Given the description of an element on the screen output the (x, y) to click on. 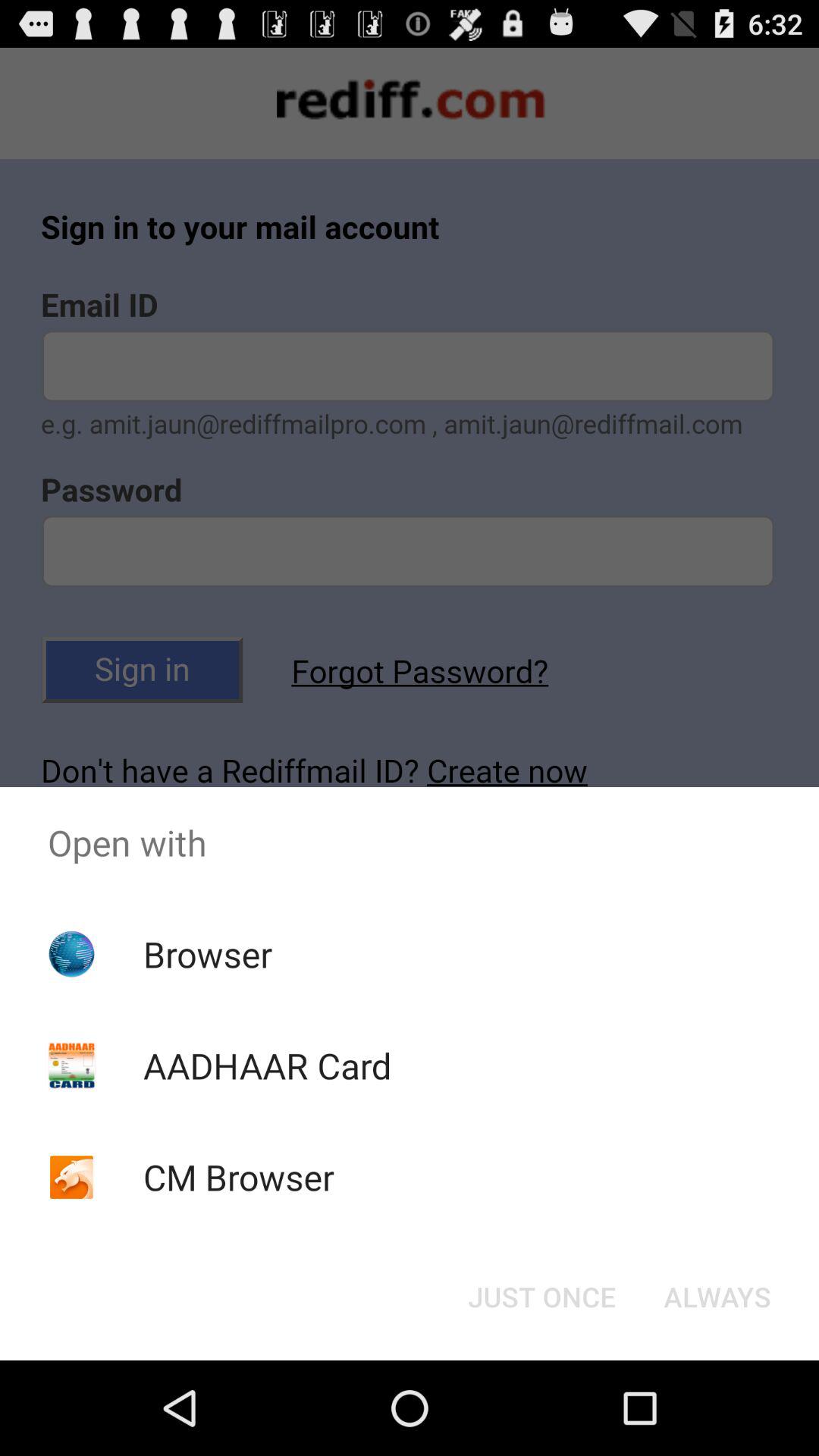
launch button next to the just once item (717, 1296)
